Given the description of an element on the screen output the (x, y) to click on. 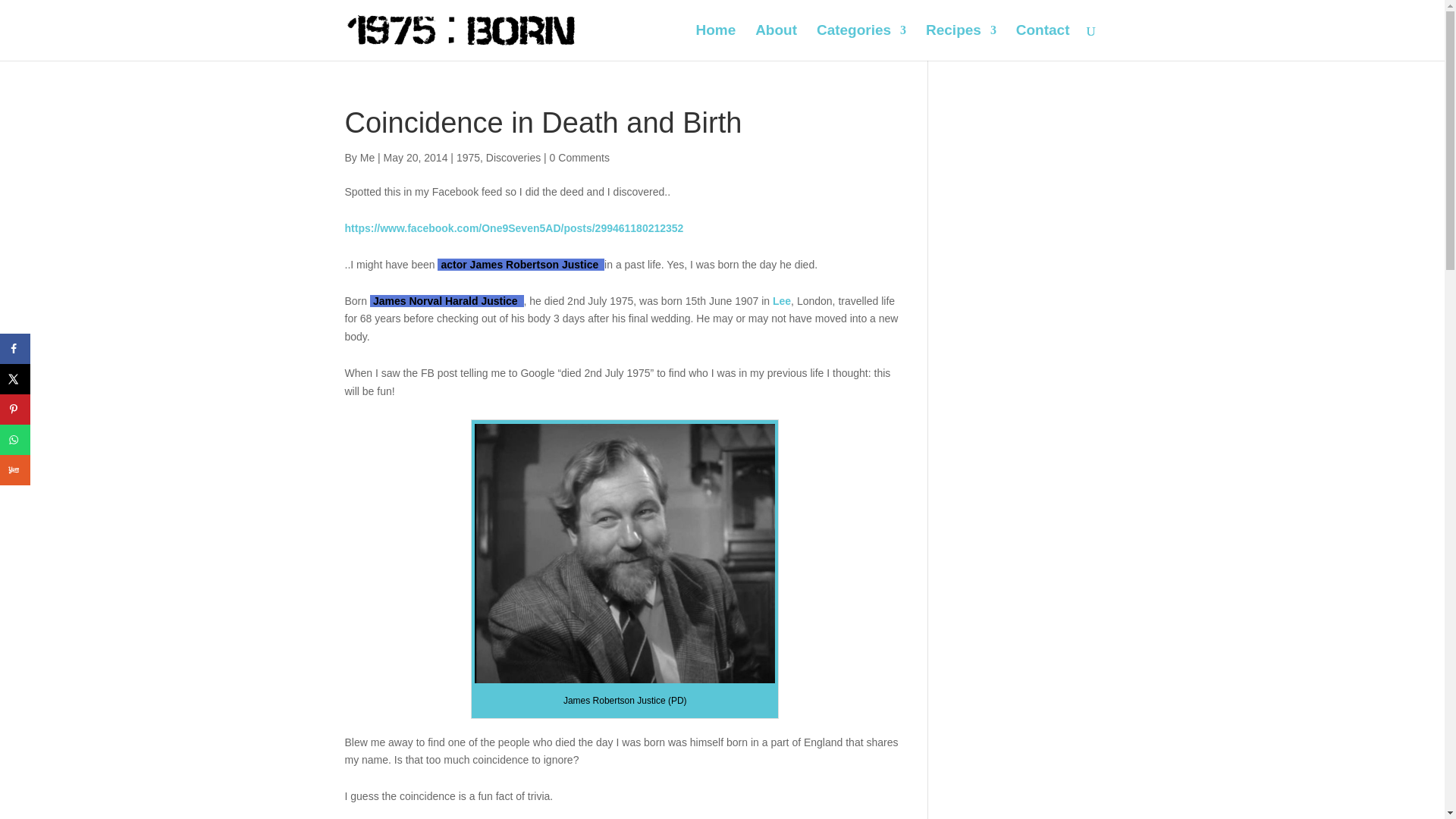
Categories (860, 42)
About (775, 42)
Share on Facebook (15, 348)
Share on X (15, 378)
Recipes (960, 42)
Contact (1043, 42)
Me (366, 157)
Posts by Me (366, 157)
Home (715, 42)
